Given the description of an element on the screen output the (x, y) to click on. 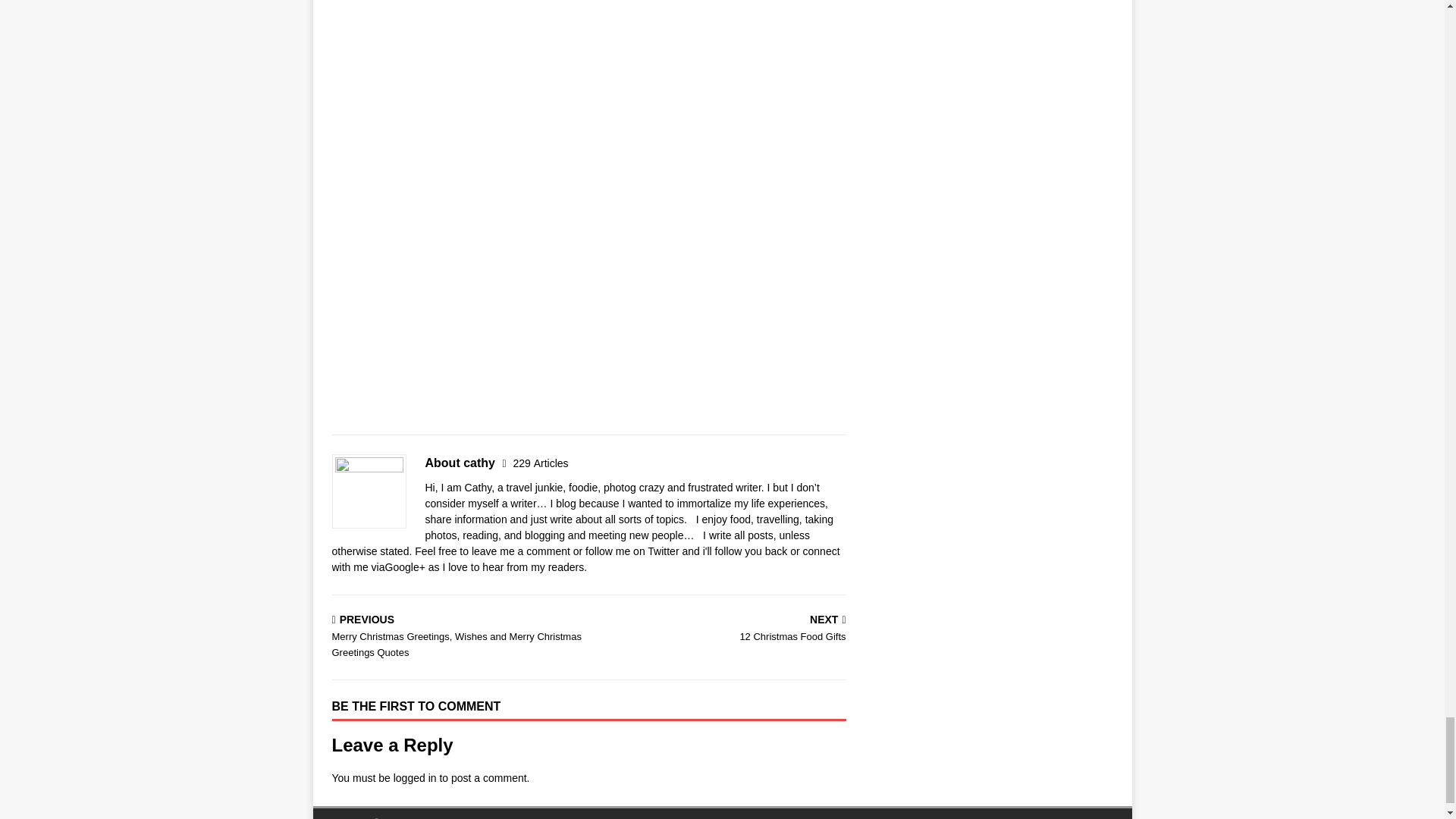
More articles written by cathy' (720, 629)
logged in (539, 463)
229 Articles (414, 777)
Twitter (539, 463)
